Given the description of an element on the screen output the (x, y) to click on. 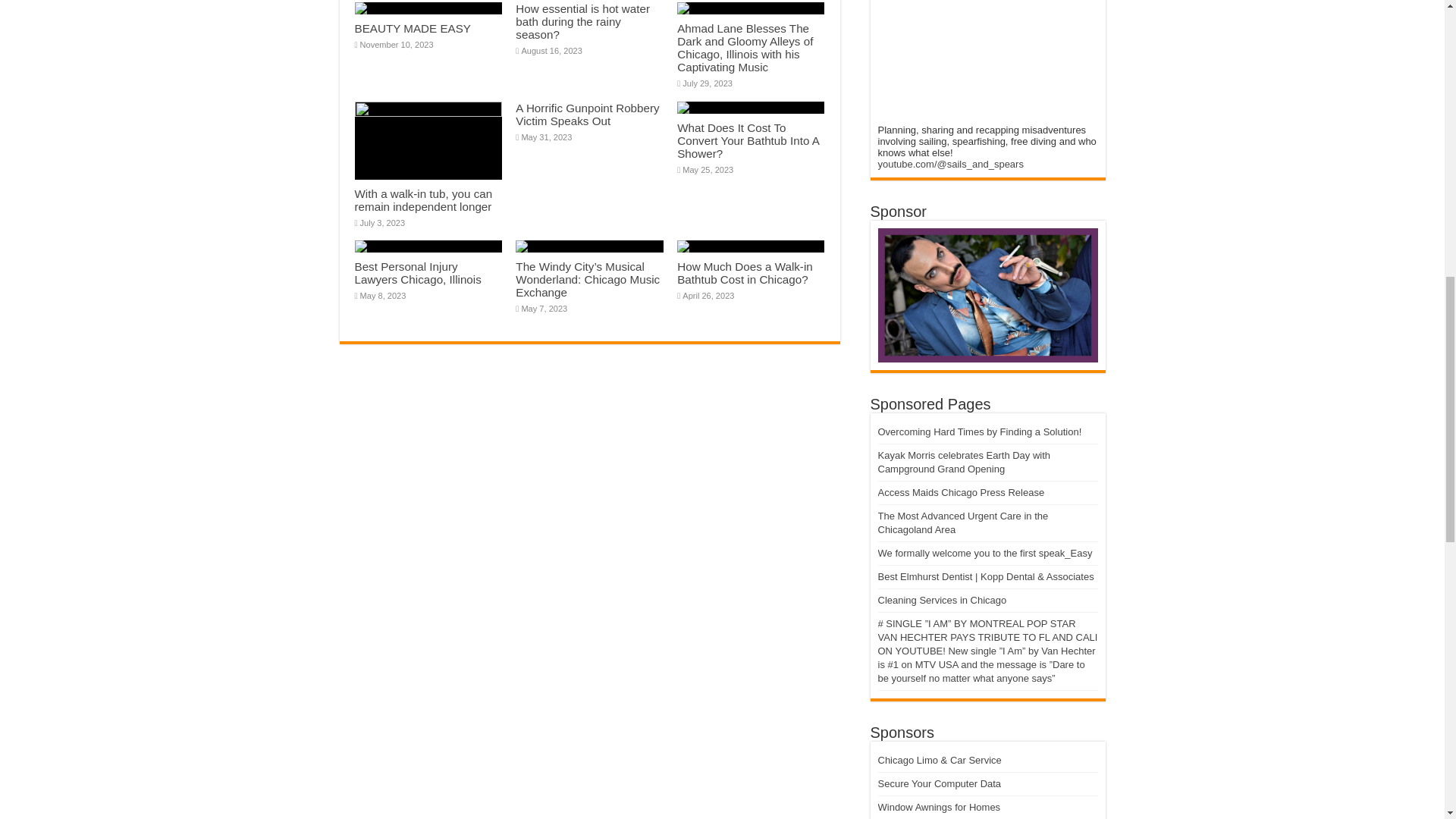
How essential is hot water bath during the rainy season? (582, 21)
How Much Does a Walk-in Bathtub Cost in Chicago? (744, 272)
Overcoming Hard Times by Finding a Solution! (979, 431)
Access Maids Chicago Press Release (961, 491)
Best Personal Injury Lawyers Chicago, Illinois (418, 272)
What Does It Cost To Convert Your Bathtub Into A Shower? (747, 140)
With a walk-in tub, you can remain independent longer (424, 199)
BEAUTY MADE EASY (413, 28)
A Horrific Gunpoint Robbery Victim Speaks Out (587, 114)
